Given the description of an element on the screen output the (x, y) to click on. 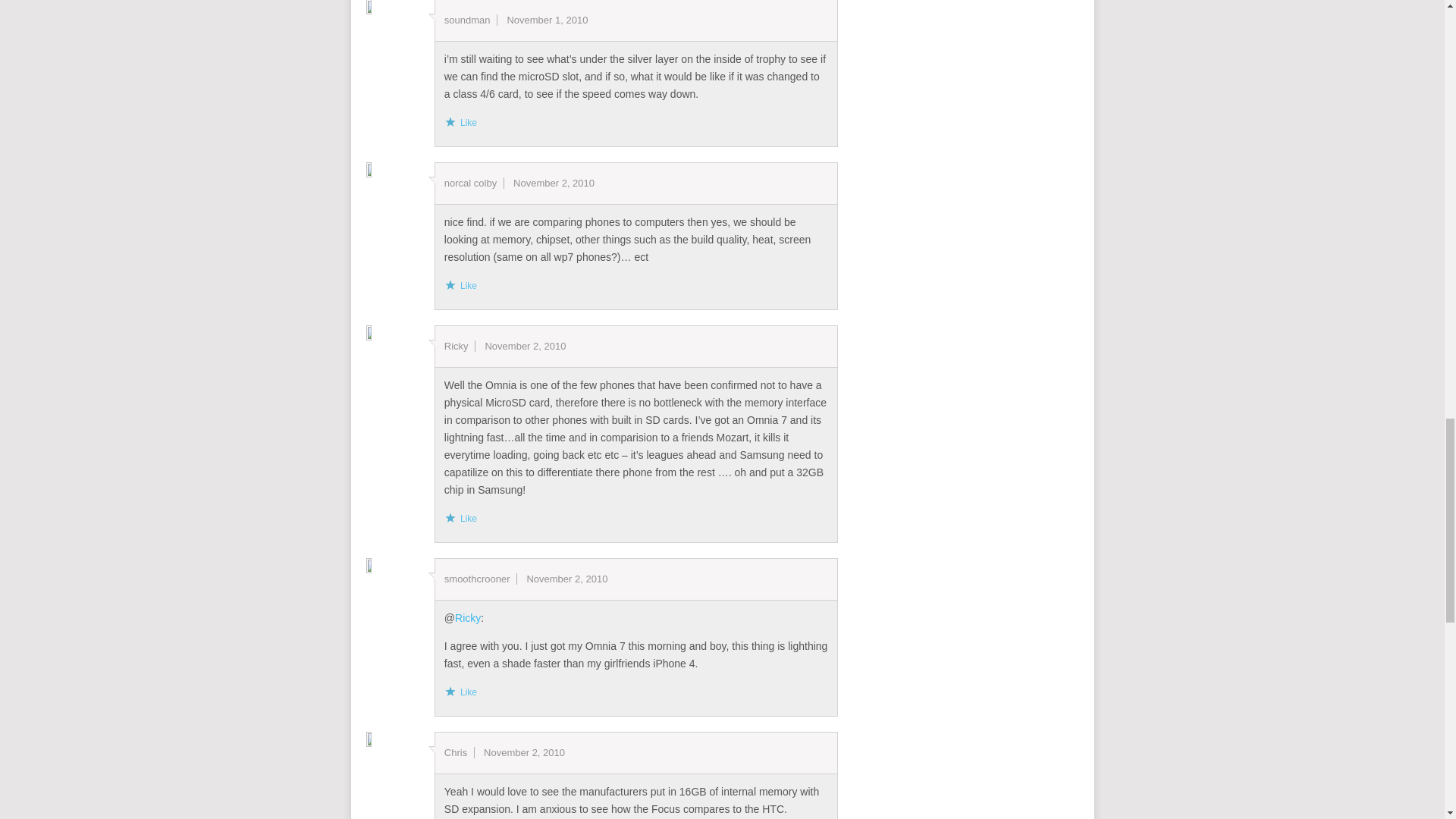
Ricky (467, 617)
